Given the description of an element on the screen output the (x, y) to click on. 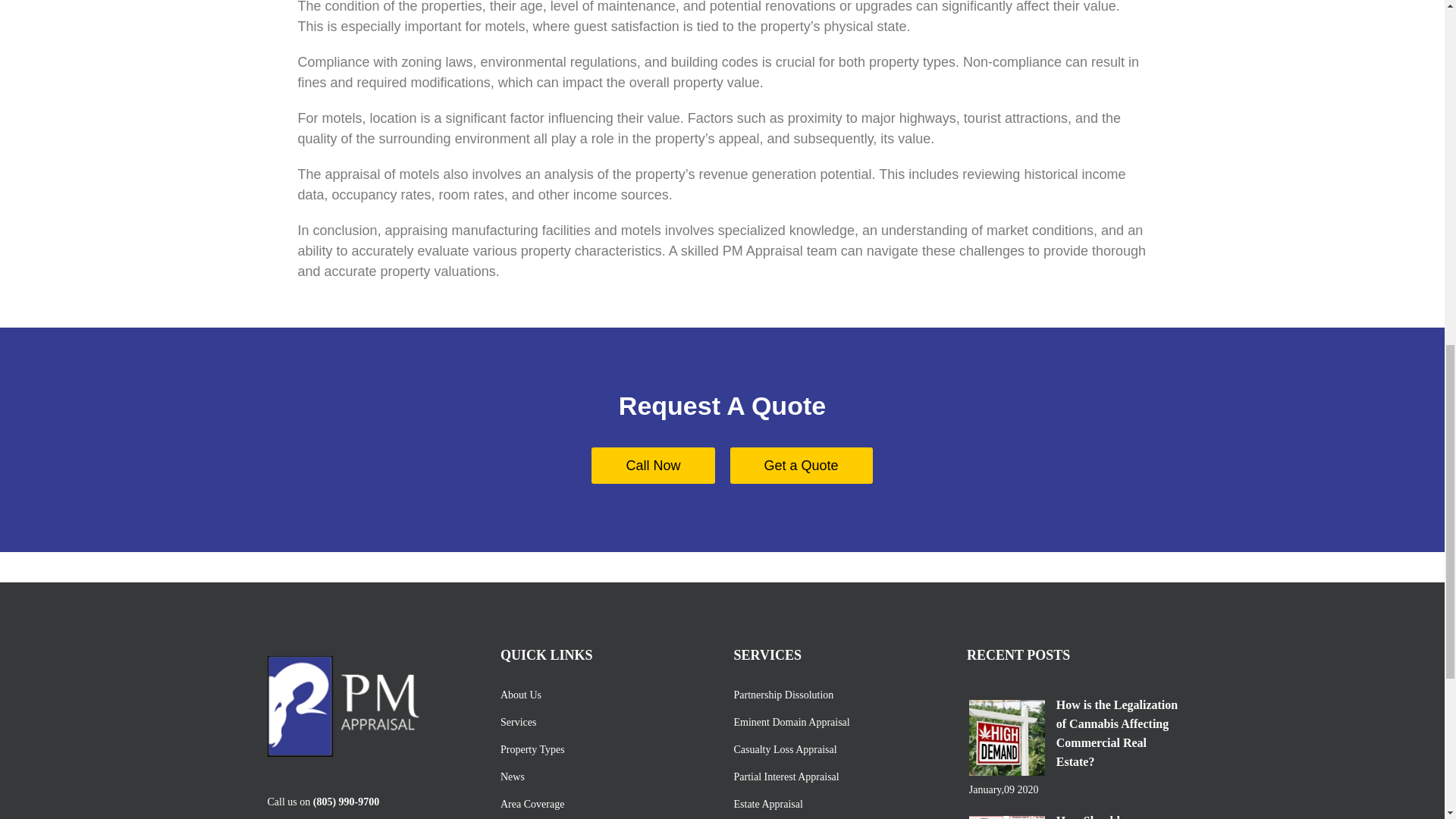
Partial Interest Appraisal (835, 776)
Services (601, 722)
Eminent Domain Appraisal (835, 722)
Estate Appraisal (835, 804)
Area Coverage (601, 804)
About Us (601, 694)
Property Types (601, 749)
Casualty Loss Appraisal (835, 749)
Partnership Dissolution (835, 694)
News (601, 776)
